Given the description of an element on the screen output the (x, y) to click on. 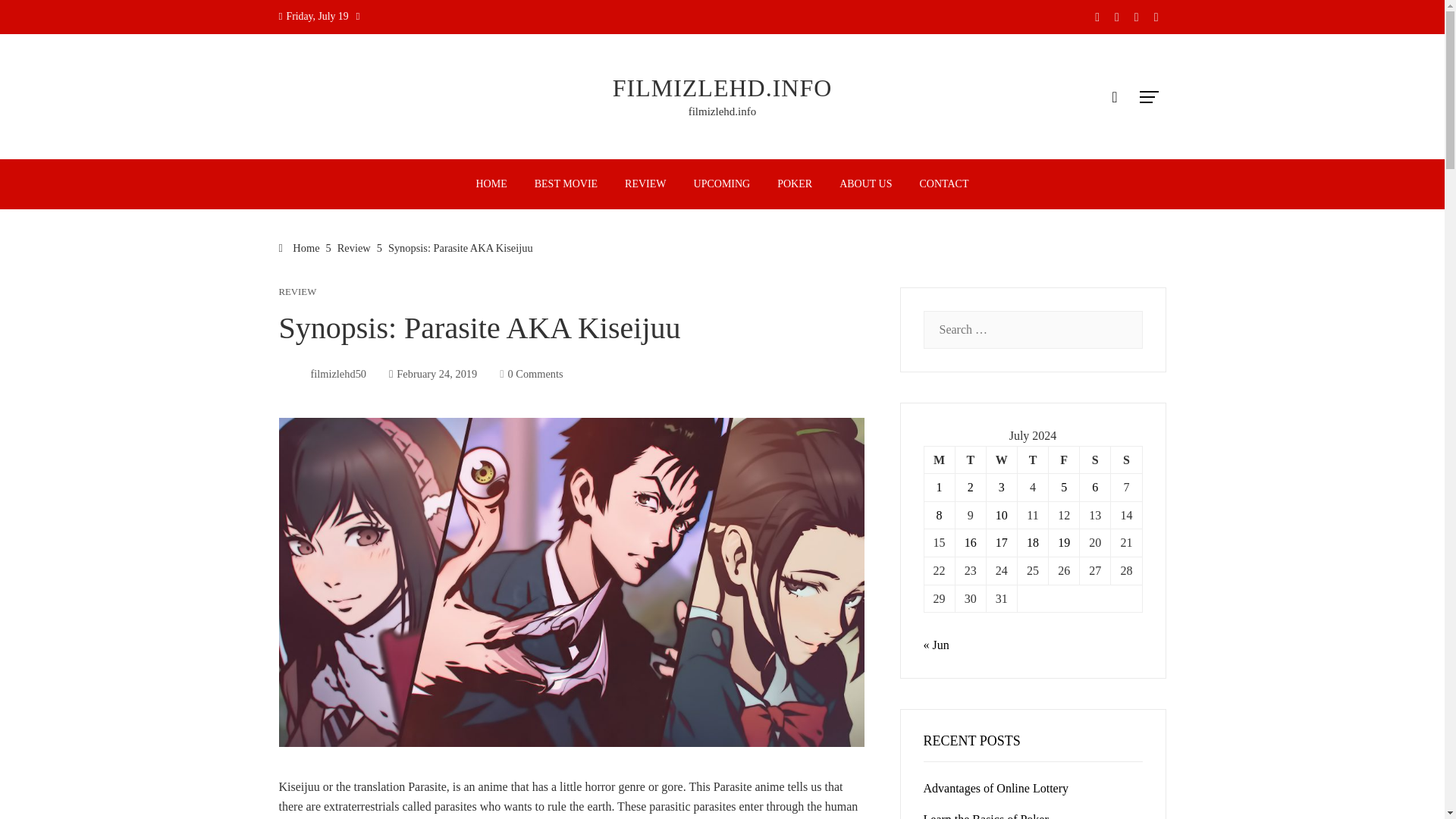
FILMIZLEHD.INFO (722, 87)
Tuesday (970, 459)
ABOUT US (865, 183)
10 (1001, 514)
Thursday (1032, 459)
Sunday (1125, 459)
Review (354, 247)
POKER (794, 183)
filmizlehd.info (722, 111)
BEST MOVIE (565, 183)
Search (35, 18)
Wednesday (1000, 459)
Saturday (1095, 459)
HOME (491, 183)
UPCOMING (721, 183)
